Given the description of an element on the screen output the (x, y) to click on. 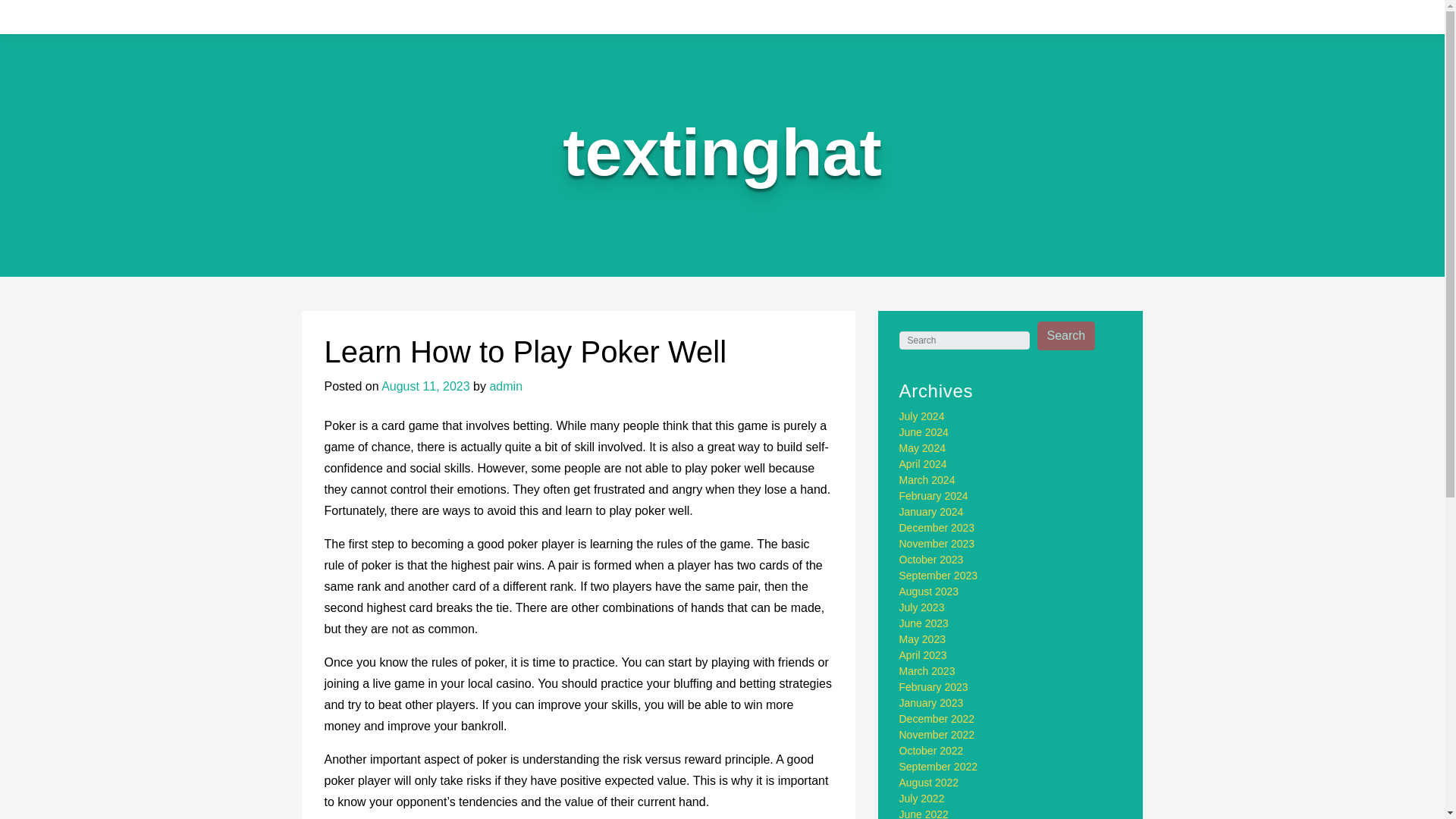
March 2024 (927, 480)
July 2024 (921, 416)
April 2023 (923, 654)
July 2023 (921, 607)
August 2022 (929, 782)
October 2023 (931, 559)
Search (1066, 335)
January 2023 (931, 702)
August 2023 (929, 591)
September 2023 (938, 575)
October 2022 (931, 750)
April 2024 (923, 463)
February 2024 (933, 495)
June 2024 (924, 431)
September 2022 (938, 766)
